Given the description of an element on the screen output the (x, y) to click on. 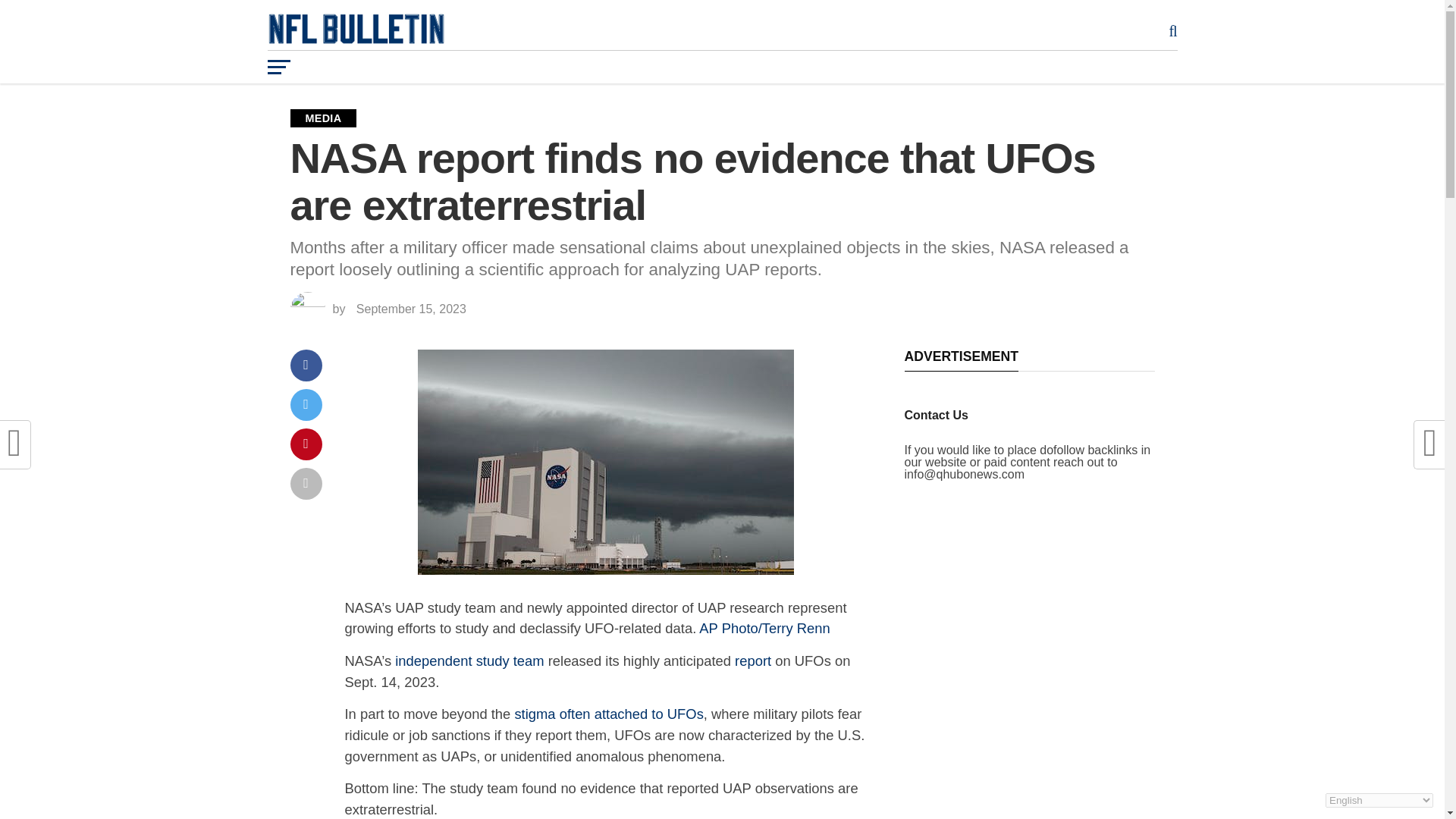
report (753, 660)
stigma often attached to UFOs (608, 713)
independent study team (468, 660)
